Given the description of an element on the screen output the (x, y) to click on. 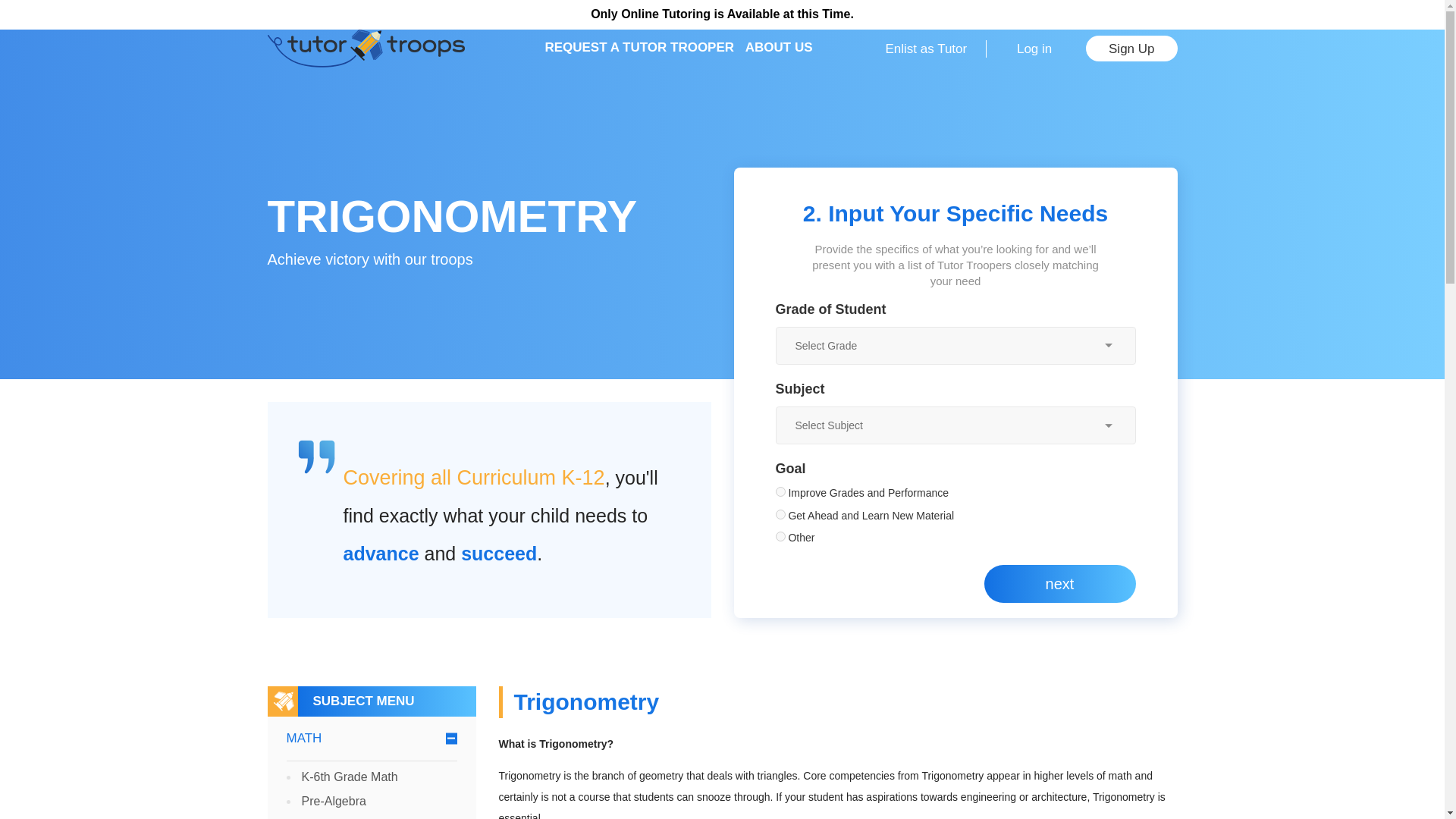
Log in (1033, 48)
K-6th Grade Math (349, 776)
REQUEST A TUTOR TROOPER (638, 48)
Pre-Algebra (333, 800)
other (779, 536)
MATH (371, 738)
next (1059, 583)
ABOUT US (778, 48)
Sign Up (1131, 48)
Enlist as Tutor (926, 48)
succeed (499, 553)
advance (380, 553)
